Given the description of an element on the screen output the (x, y) to click on. 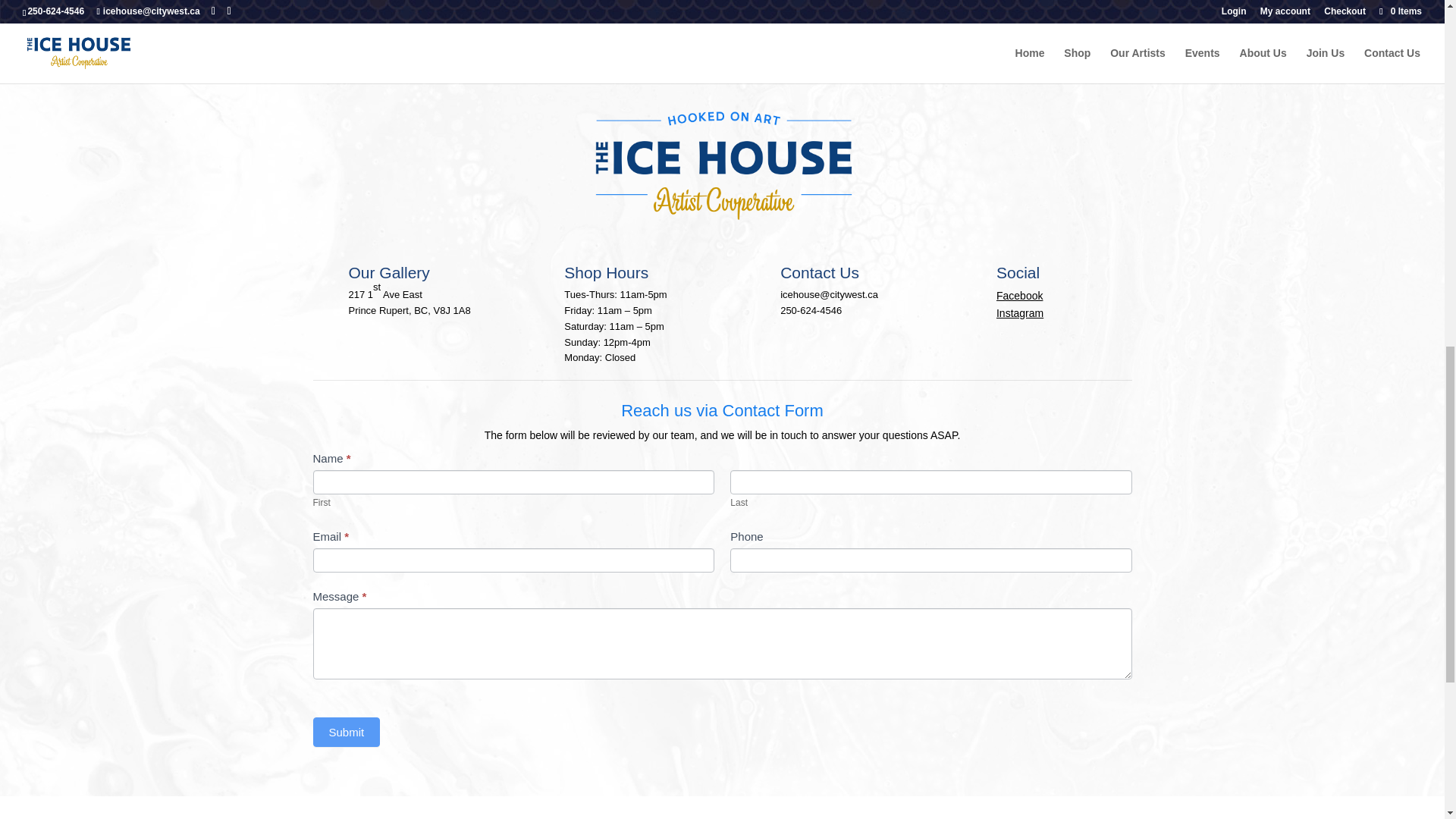
Facebook (1018, 295)
Instagram (1019, 313)
TheIceHouse-RGB-FullWordmark (722, 164)
Submit (346, 731)
